Given the description of an element on the screen output the (x, y) to click on. 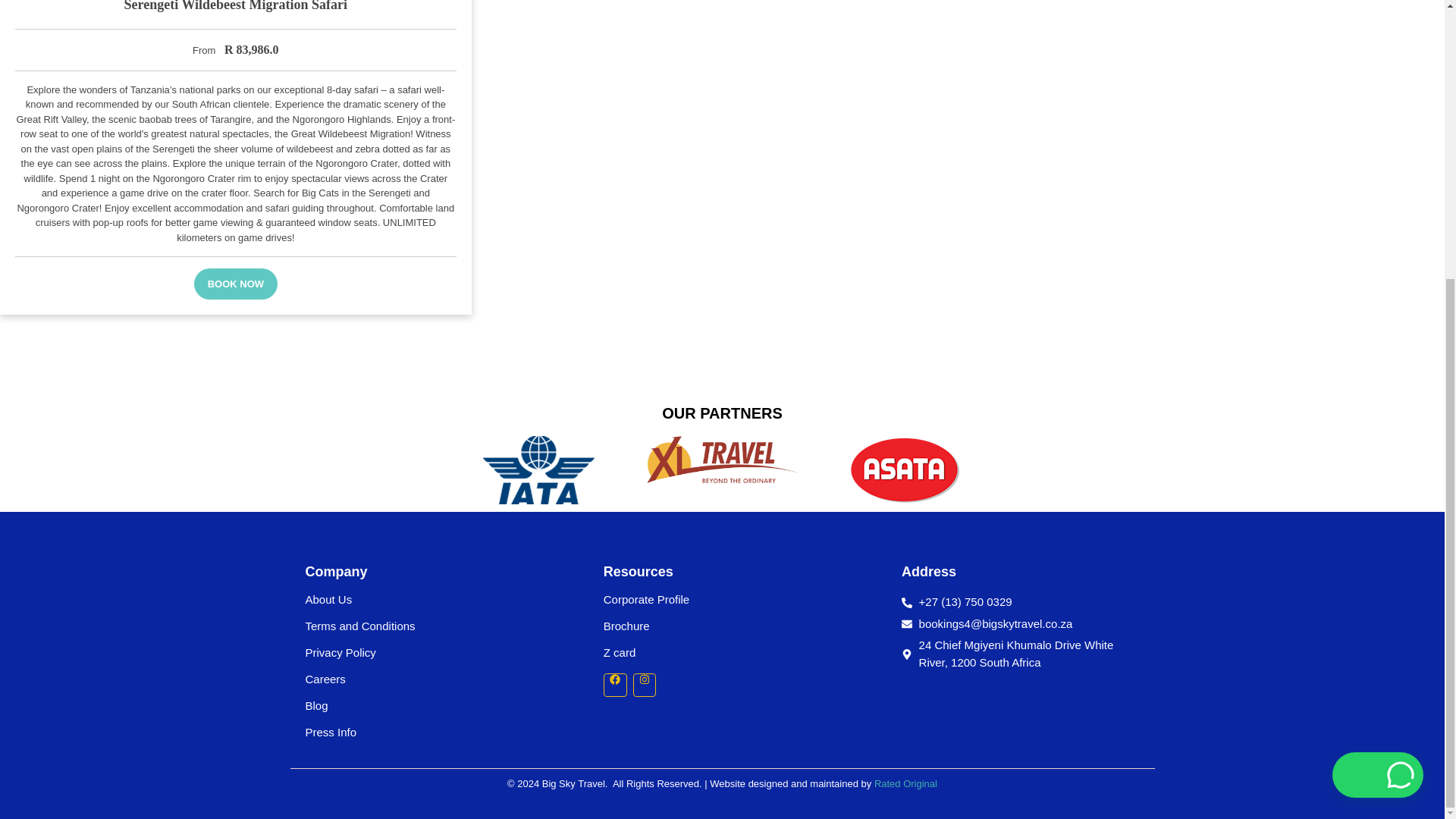
Serengeti Wildebeest Migration Safari (235, 6)
Serengeti Wildebeest Migration Safari (235, 6)
BOOK NOW (235, 283)
Book now (235, 283)
